Given the description of an element on the screen output the (x, y) to click on. 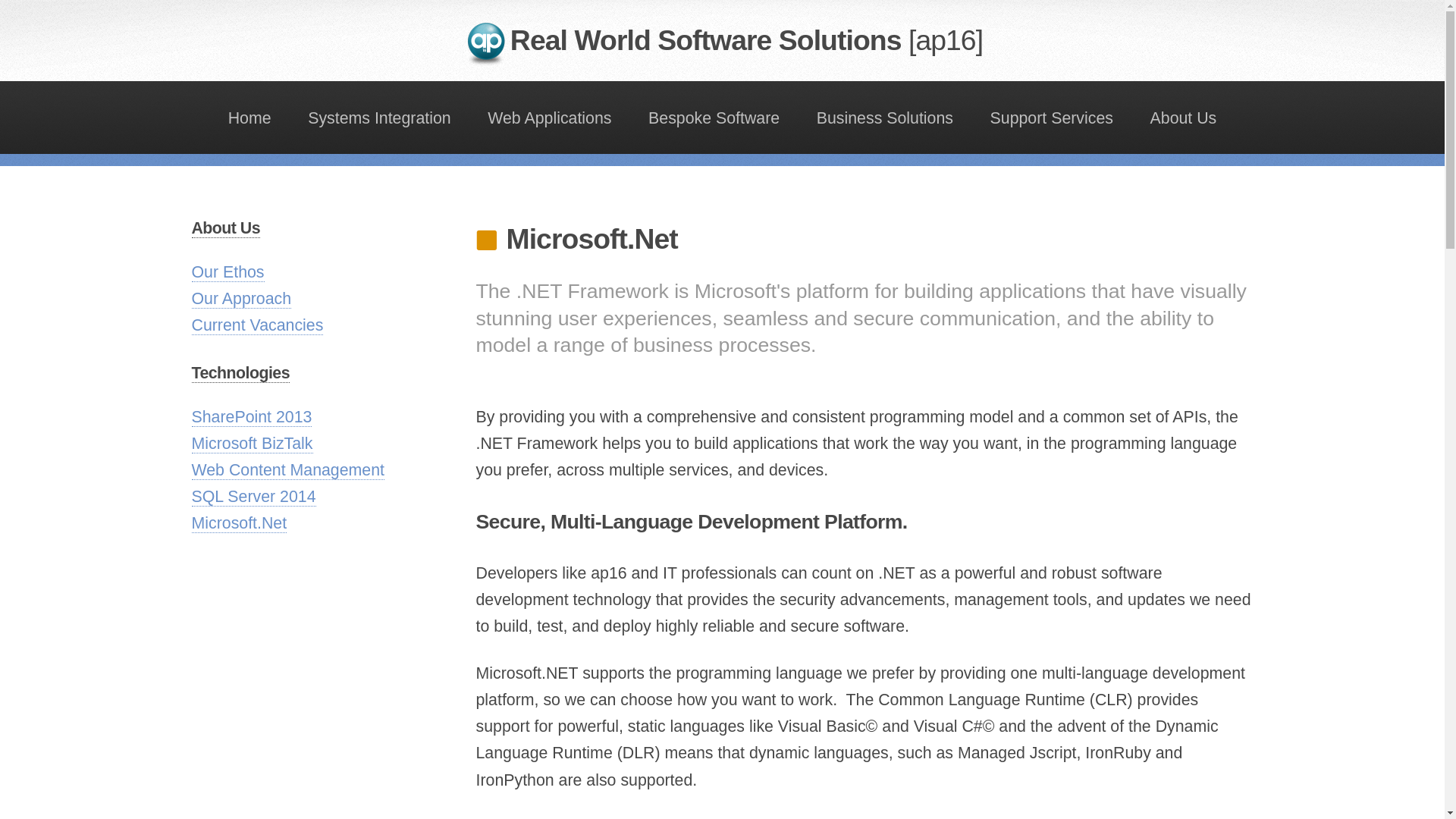
Our Approach (240, 298)
Microsoft BizTalk (251, 443)
Microsoft.Net (238, 523)
Web Applications (550, 117)
Current Vacancies (256, 325)
Our Ethos (226, 271)
Business Solutions (884, 117)
Bespoke Software (713, 117)
About Us (225, 228)
Support Services (1051, 117)
